Given the description of an element on the screen output the (x, y) to click on. 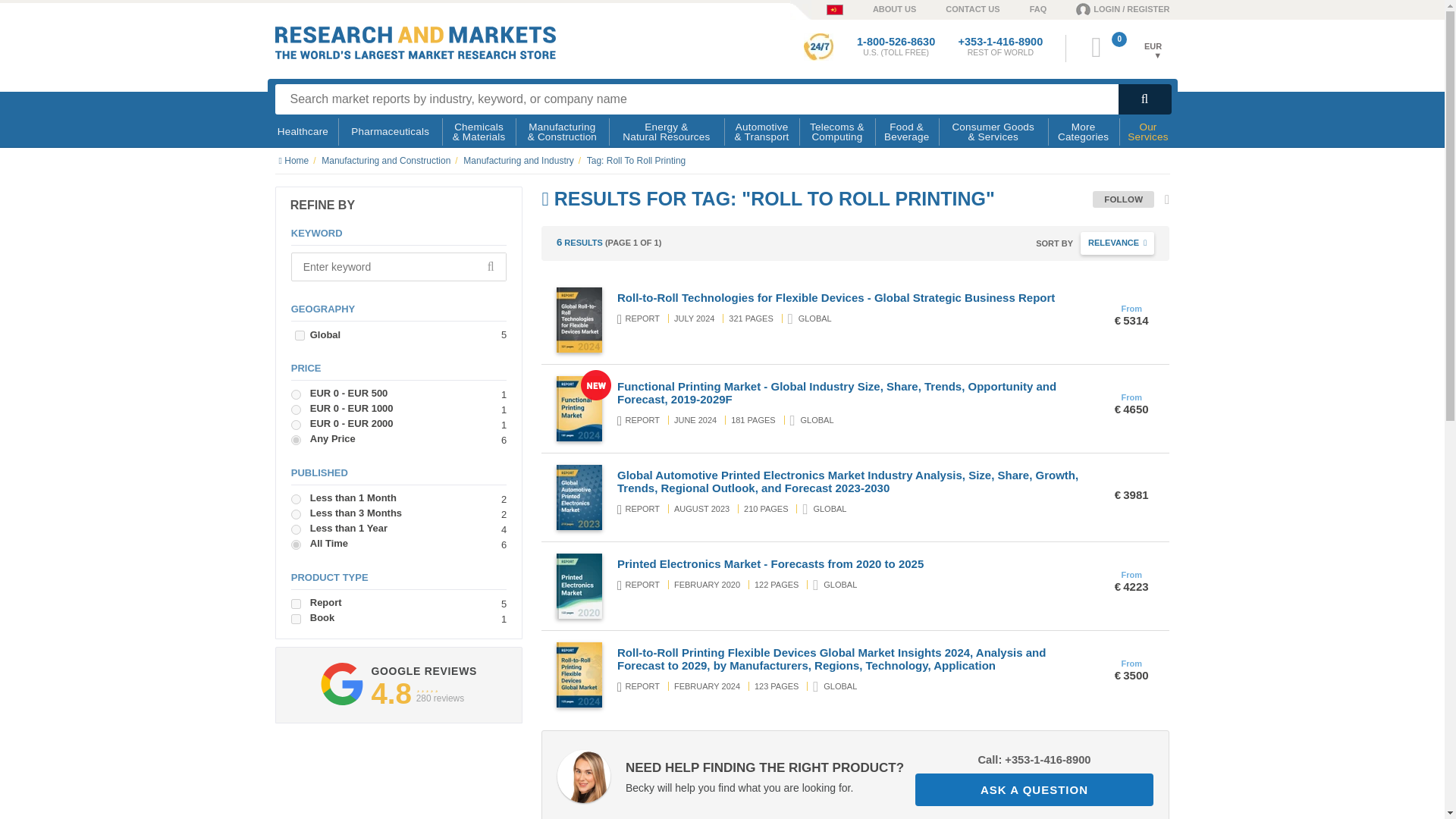
Healthcare (302, 132)
CONTACT US (956, 8)
1 (296, 603)
HighRange (296, 424)
LowRange (296, 394)
FAQ (1023, 8)
From0To365Days (296, 529)
17 (296, 619)
AnyPrice (296, 439)
From0To30Days (296, 499)
AllTime (296, 544)
ABOUT US (879, 8)
From0To90Days (296, 514)
1-800-526-8630 (895, 41)
MidRange (296, 409)
